Given the description of an element on the screen output the (x, y) to click on. 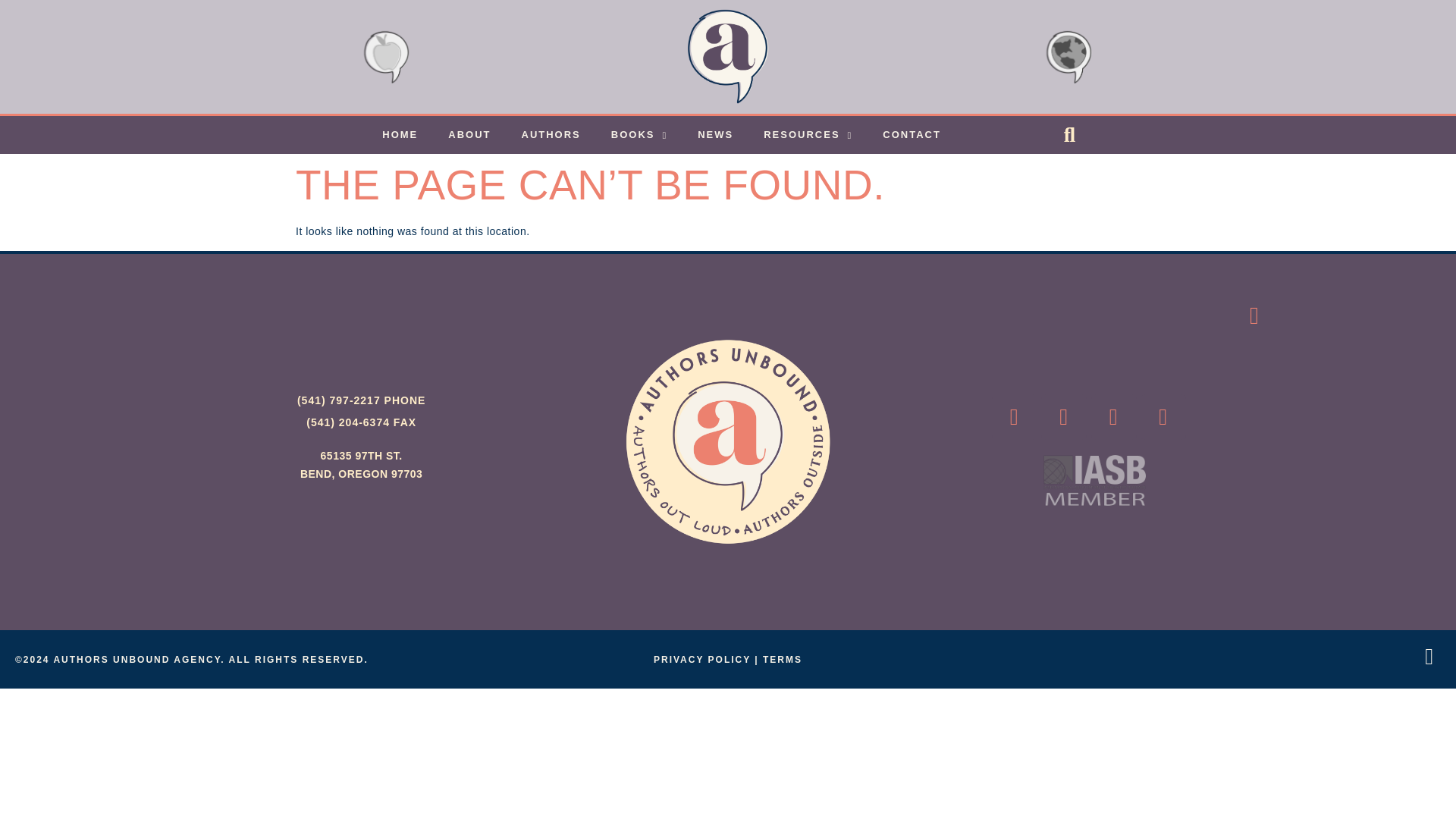
BOOKS (638, 134)
CONTACT (911, 134)
AUTHORS (550, 134)
ABOUT (468, 134)
NEWS (715, 134)
RESOURCES (807, 134)
HOME (399, 134)
